Given the description of an element on the screen output the (x, y) to click on. 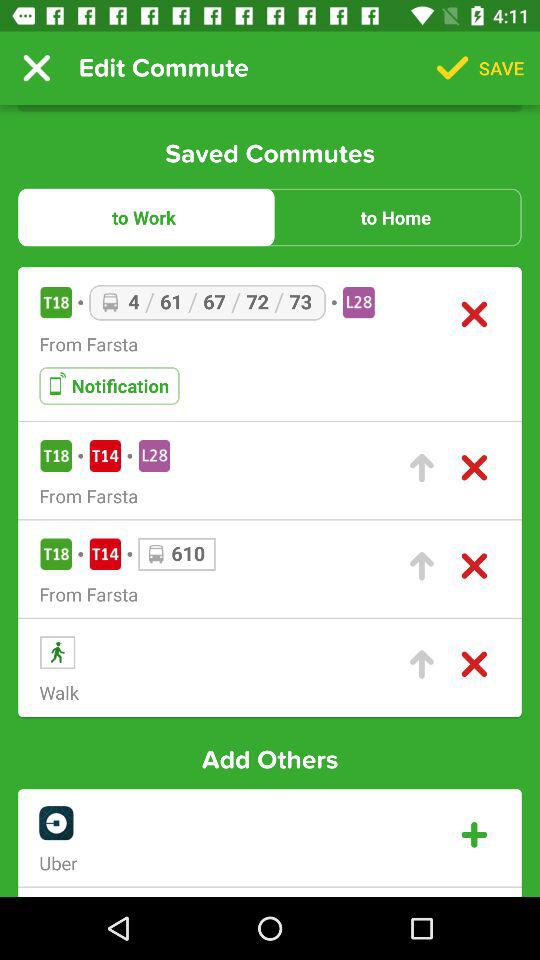
press item next to the edit commute icon (36, 68)
